Given the description of an element on the screen output the (x, y) to click on. 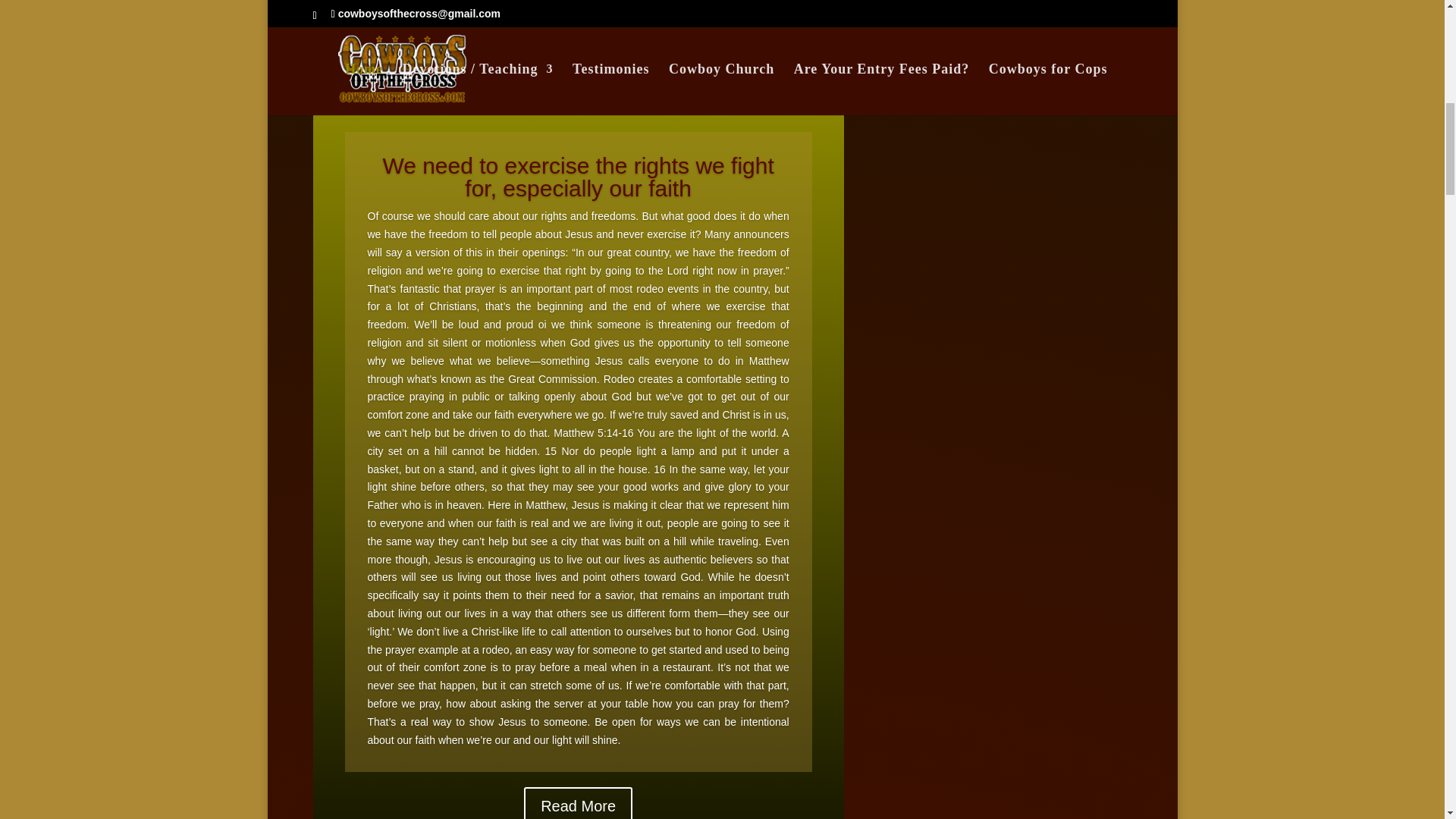
Read More (577, 803)
Follow (954, 23)
